Given the description of an element on the screen output the (x, y) to click on. 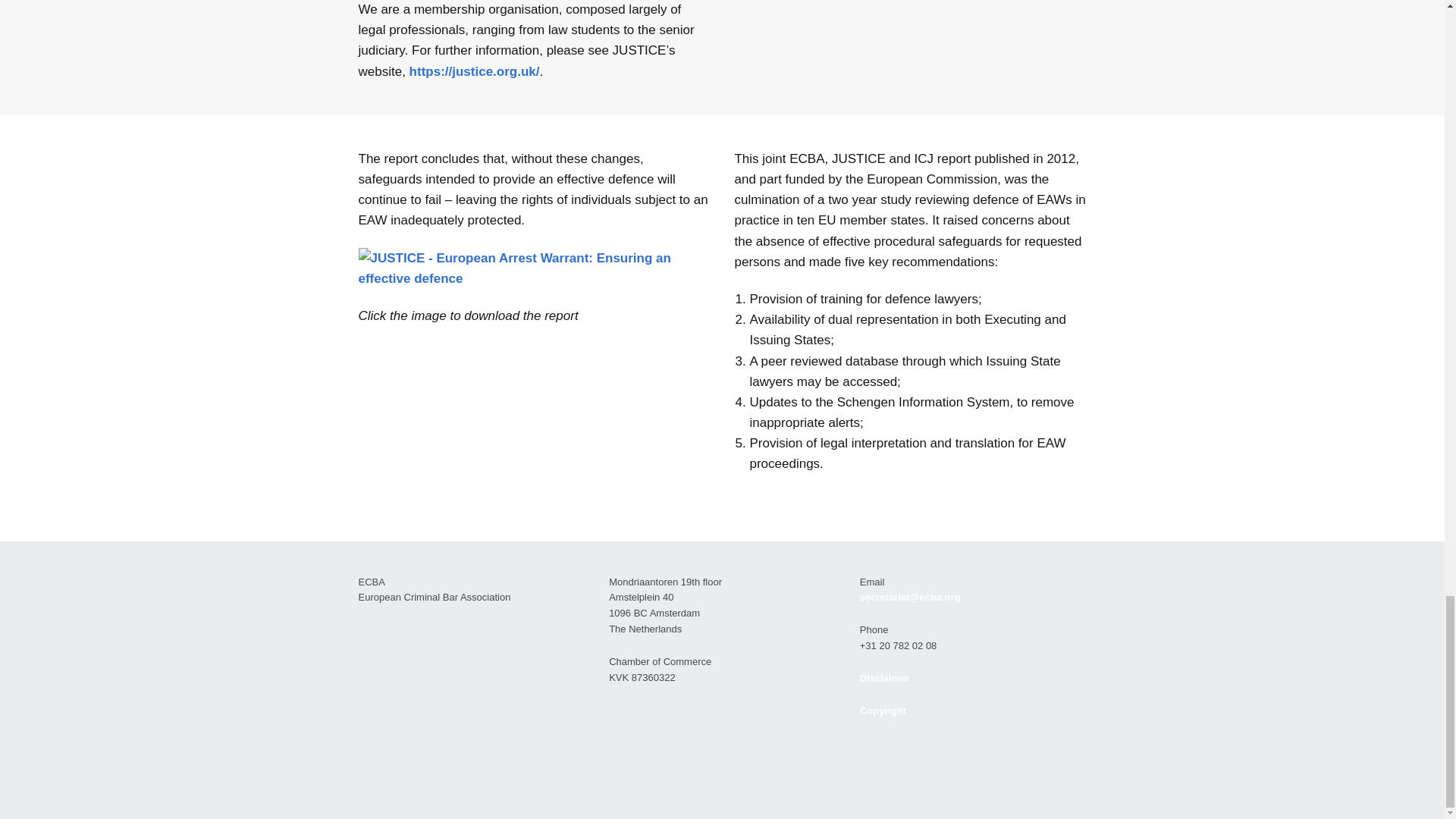
Copyright (882, 710)
Disclaimer (885, 677)
Copyright (882, 710)
Disclaimer (885, 677)
